Given the description of an element on the screen output the (x, y) to click on. 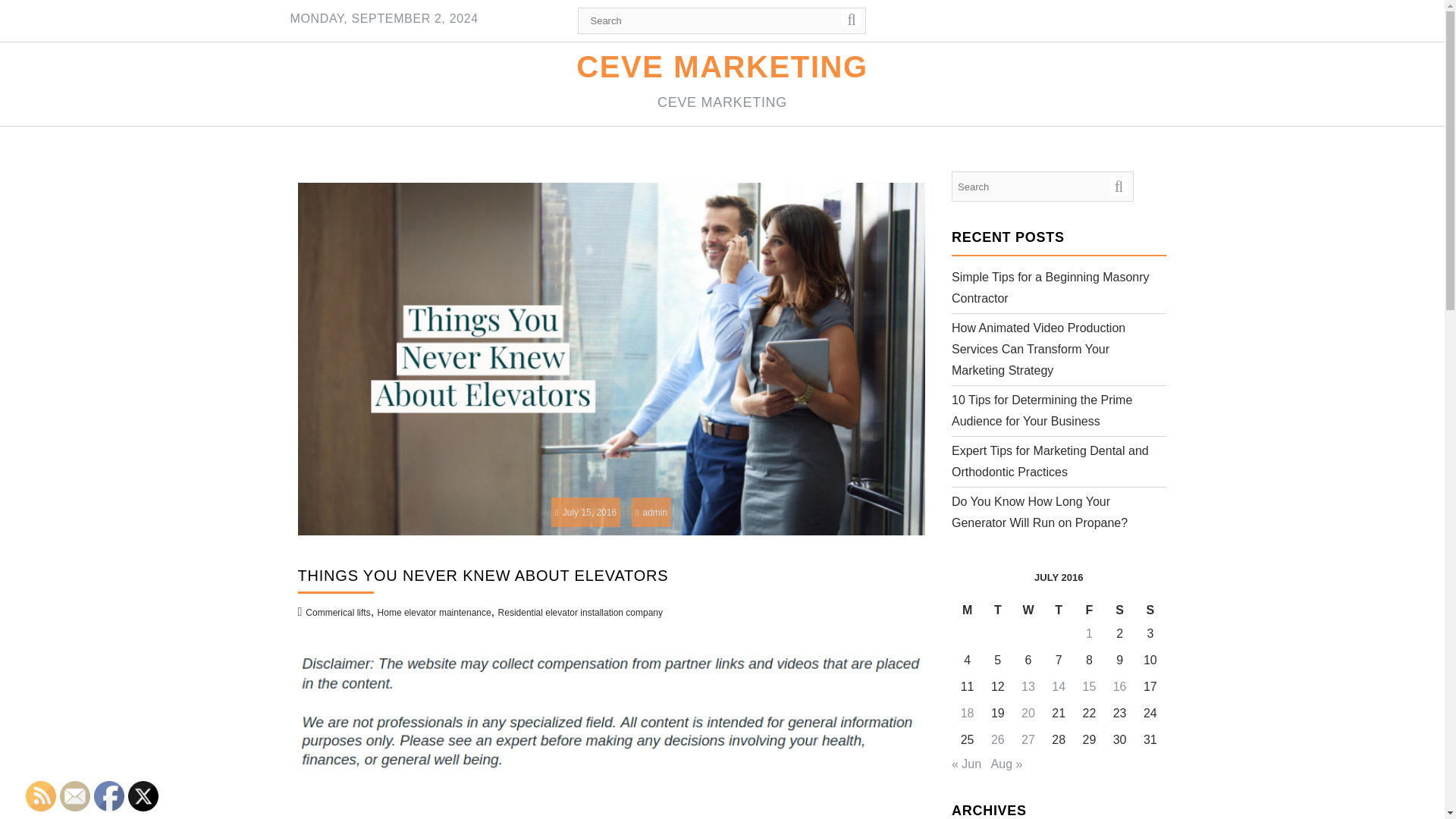
14 (1058, 686)
Friday (1088, 610)
July 15, 2016 (584, 511)
Expert Tips for Marketing Dental and Orthodontic Practices (1050, 461)
20 (1028, 712)
18 (967, 712)
27 (1028, 739)
Sunday (1150, 610)
Commerical lifts (337, 612)
Tuesday (997, 610)
